Given the description of an element on the screen output the (x, y) to click on. 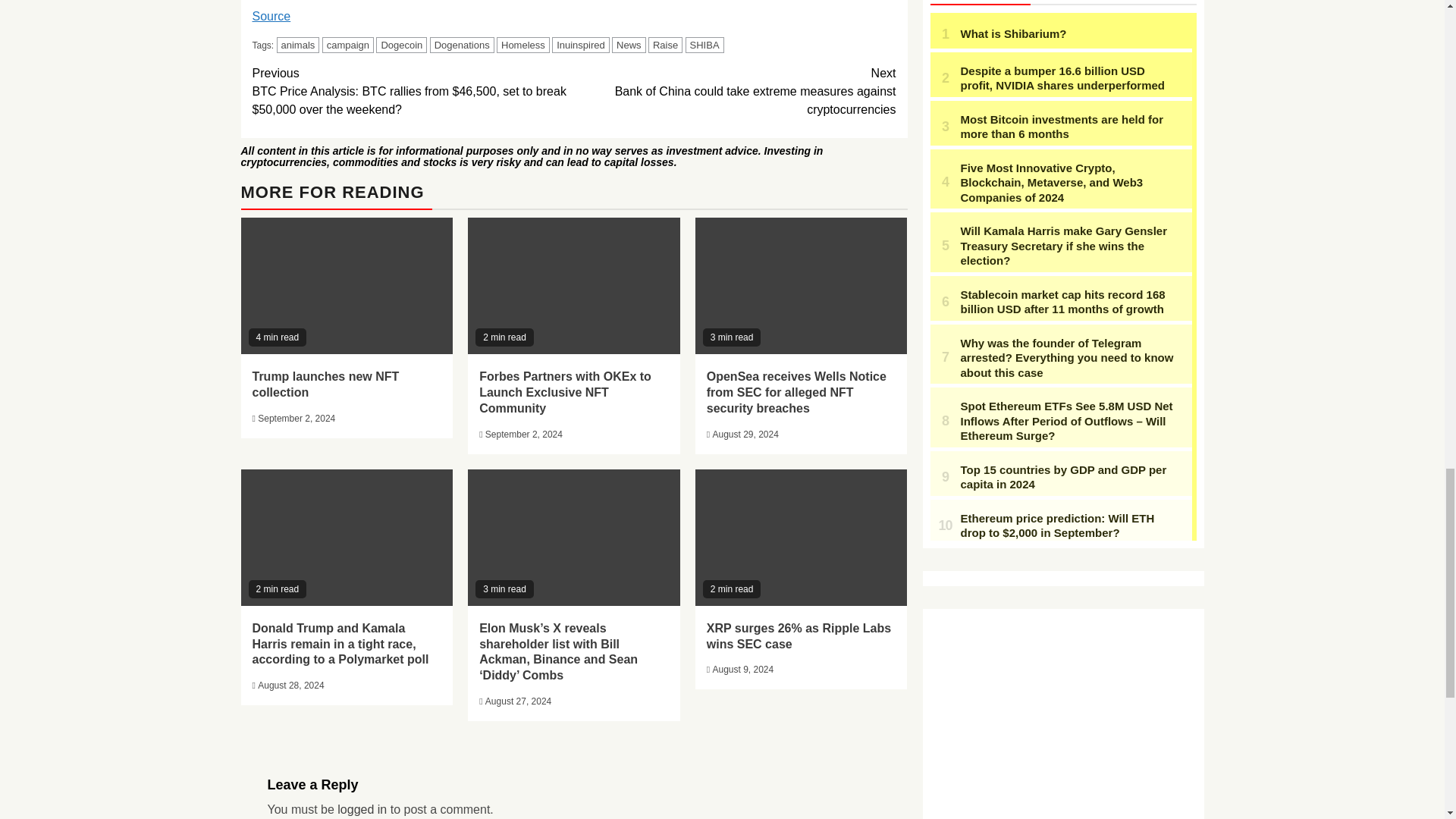
Trump launches new NFT collection 4 (346, 285)
